Given the description of an element on the screen output the (x, y) to click on. 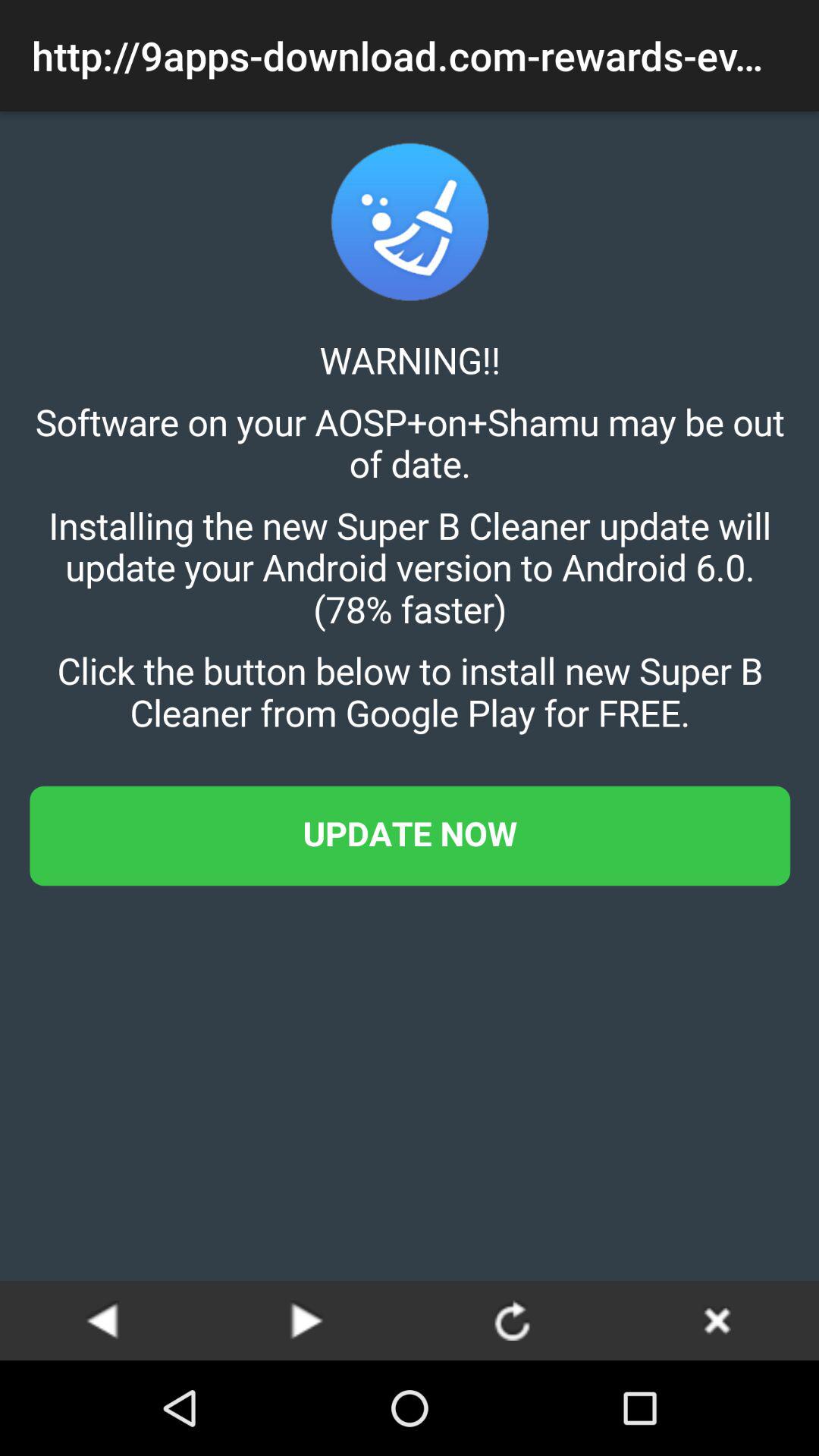
go to play (102, 1320)
